Given the description of an element on the screen output the (x, y) to click on. 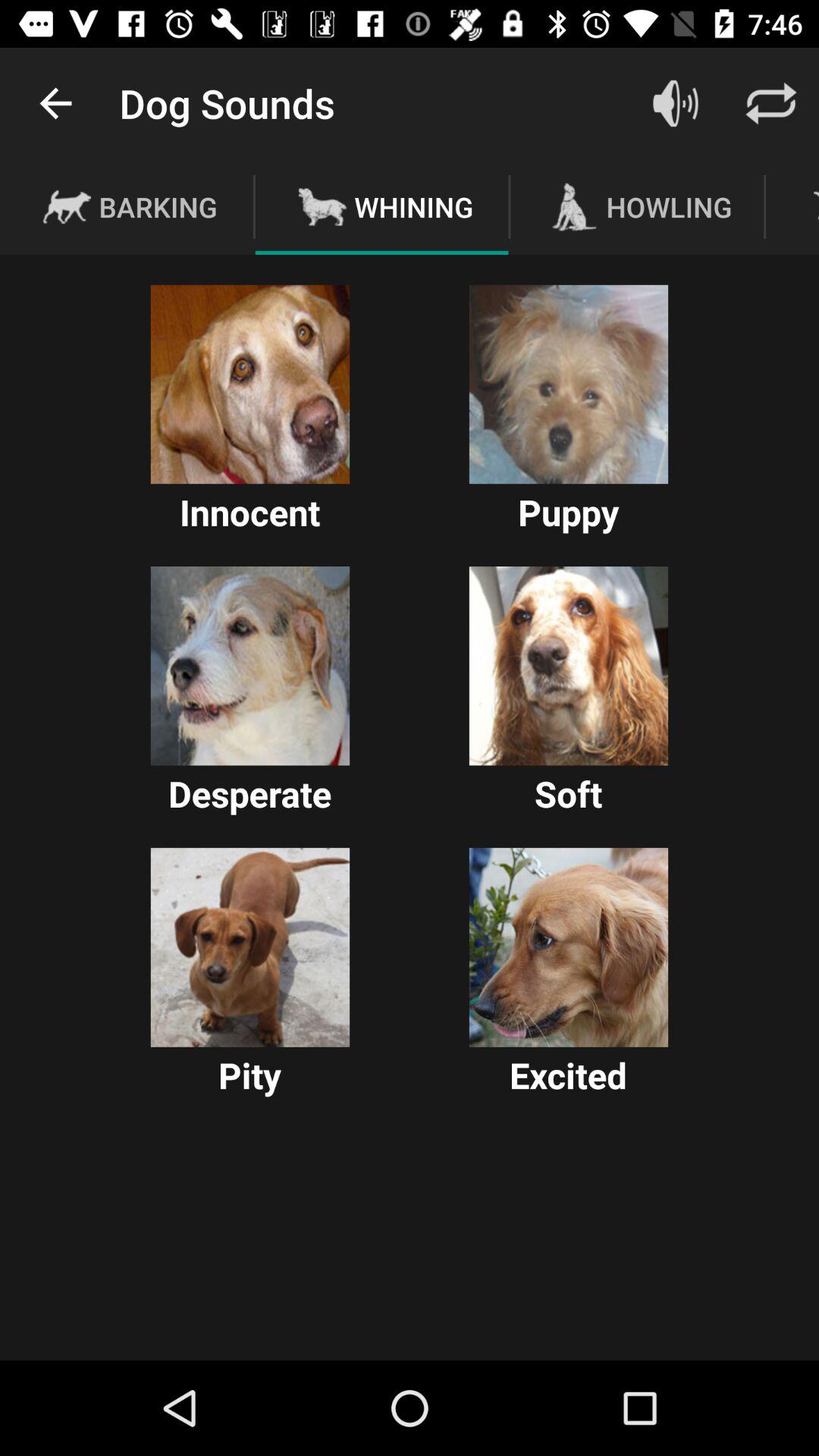
select puppy (568, 384)
